Given the description of an element on the screen output the (x, y) to click on. 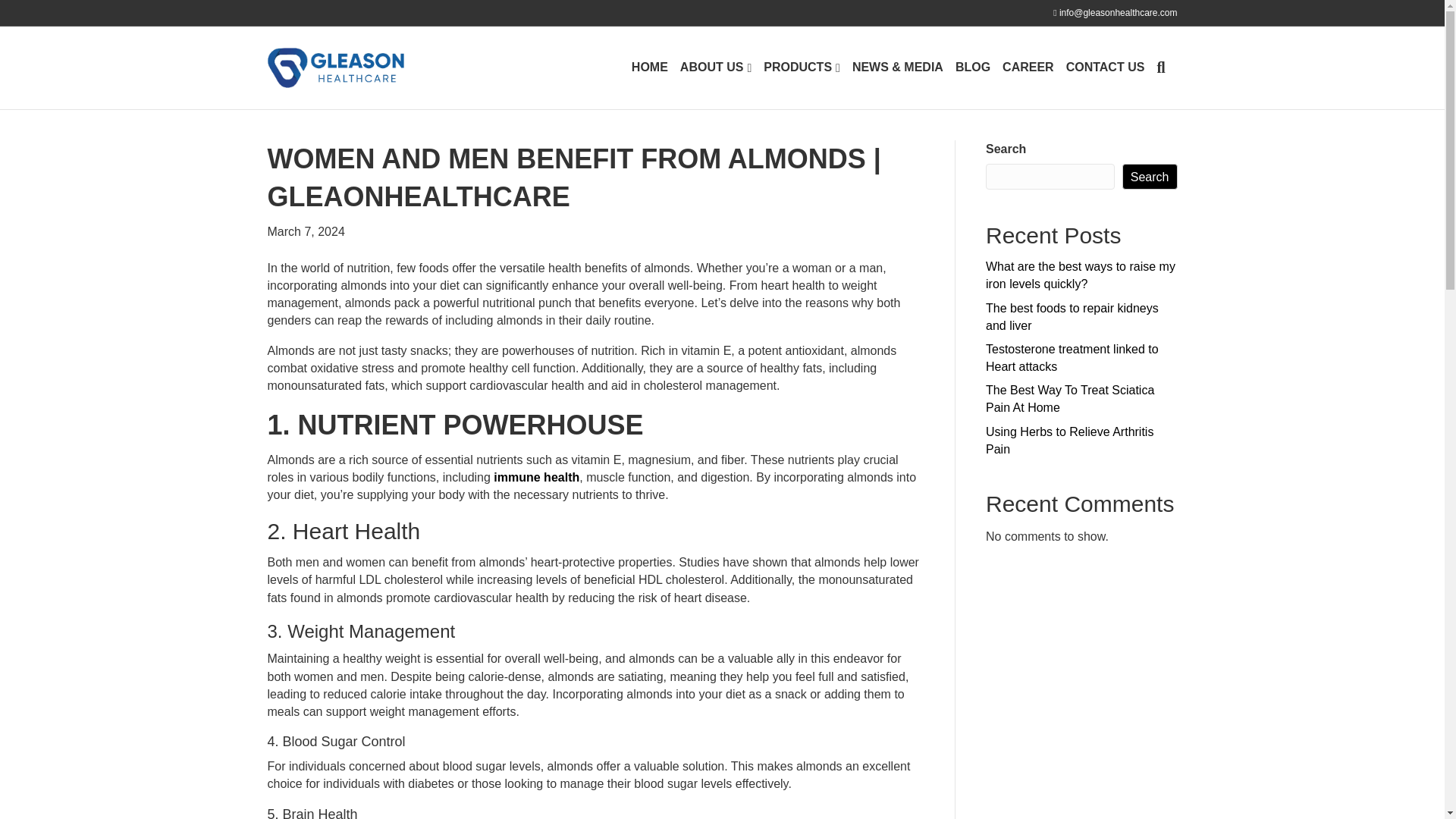
HOME (650, 66)
ABOUT US (715, 67)
